Given the description of an element on the screen output the (x, y) to click on. 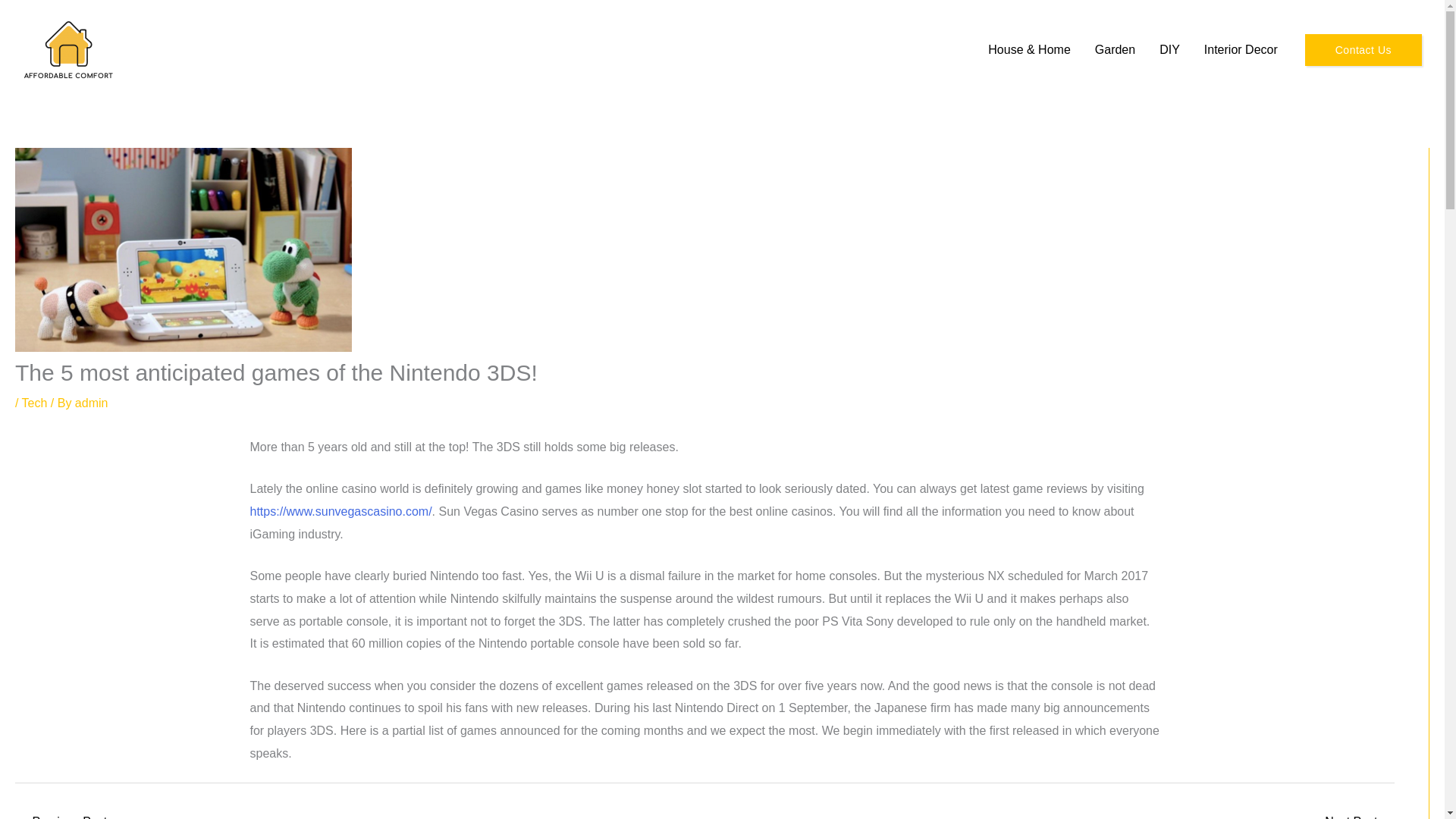
Tech (34, 402)
Contact Us (1363, 49)
Perth - The West Coast Hot Spot (61, 814)
Interior Decor (1241, 49)
Garden (1115, 49)
DIY (1169, 49)
6 Unique Spots In Malta (1358, 814)
admin (91, 402)
View all posts by admin (91, 402)
